Given the description of an element on the screen output the (x, y) to click on. 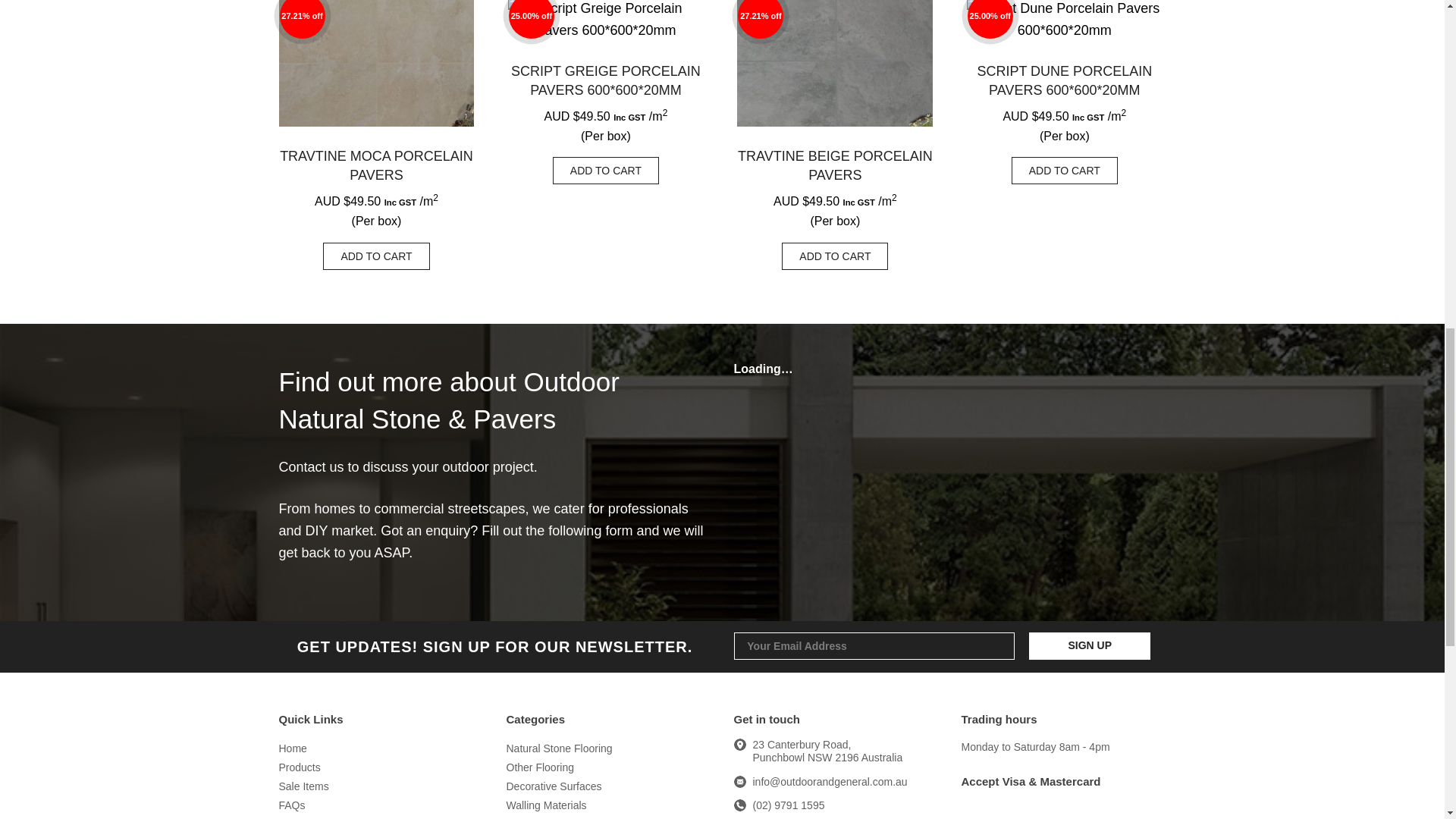
Travtine Moca Porcelain Pavers (376, 63)
Travtine Beige Porcelain Pavers (834, 63)
Master Card (1063, 811)
Sign up (1089, 646)
